Given the description of an element on the screen output the (x, y) to click on. 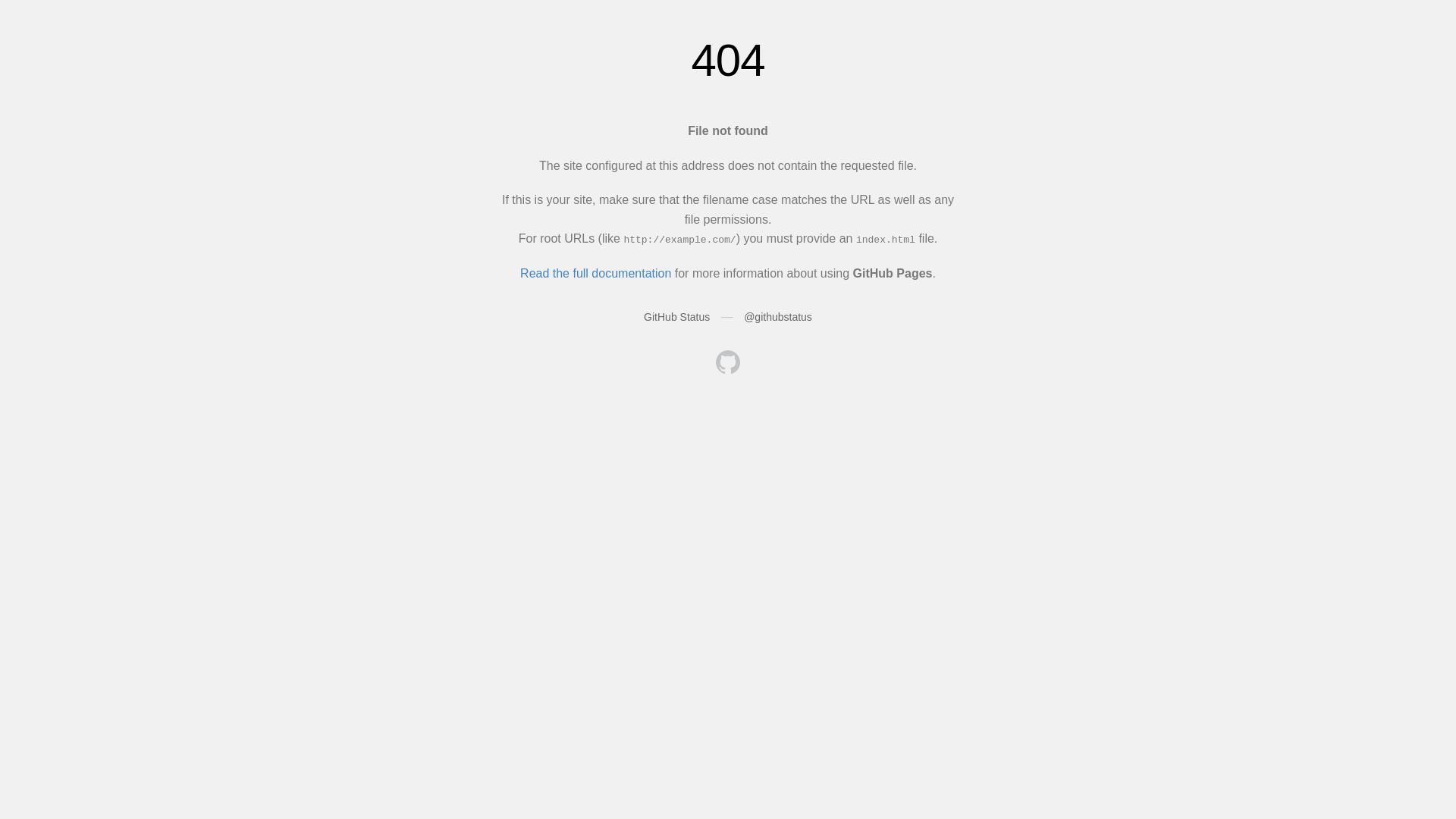
Read the full documentation Element type: text (595, 272)
@githubstatus Element type: text (777, 316)
GitHub Status Element type: text (676, 316)
